Given the description of an element on the screen output the (x, y) to click on. 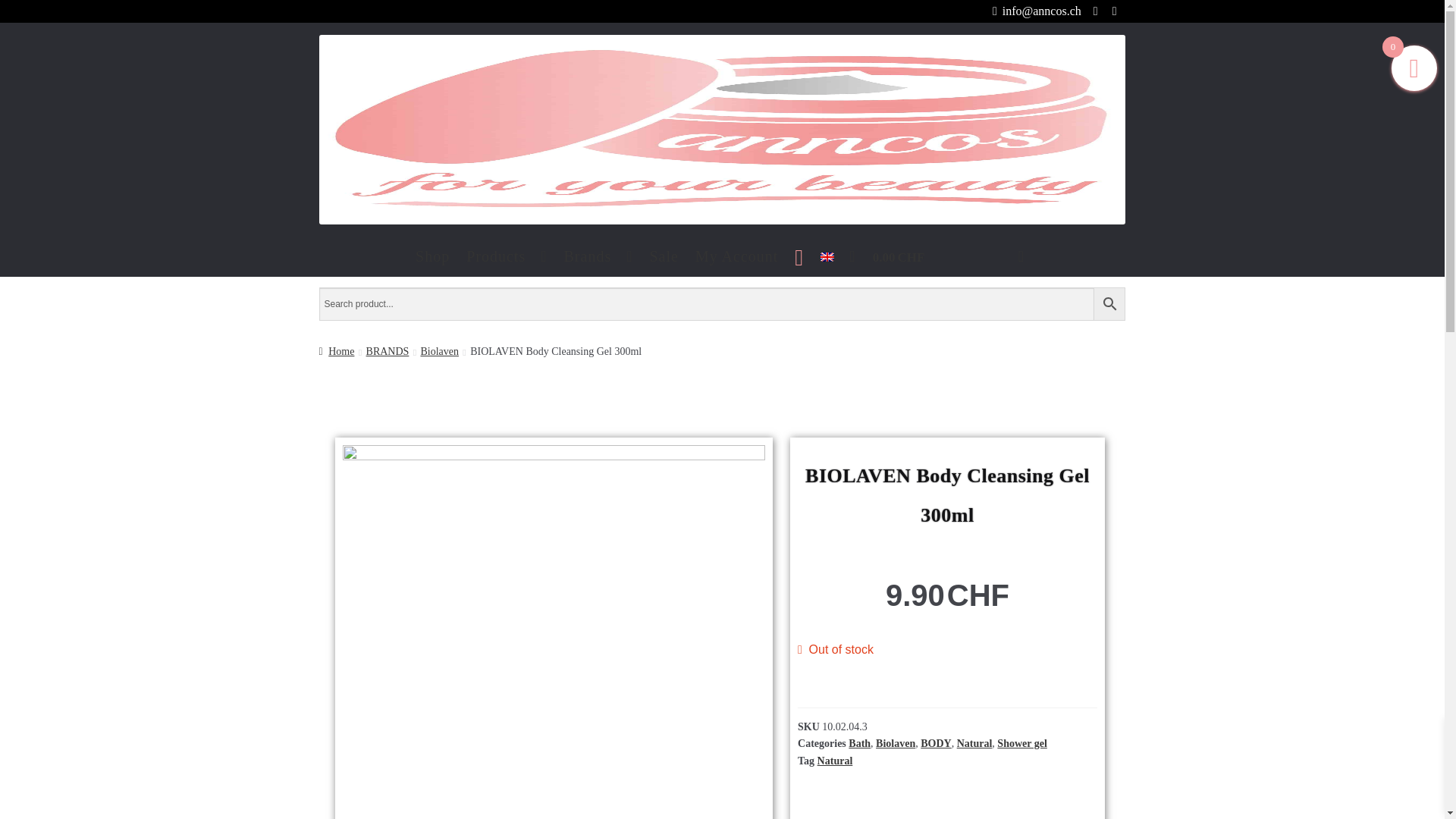
Products (507, 255)
View your shopping cart (948, 255)
Shop (432, 255)
